Given the description of an element on the screen output the (x, y) to click on. 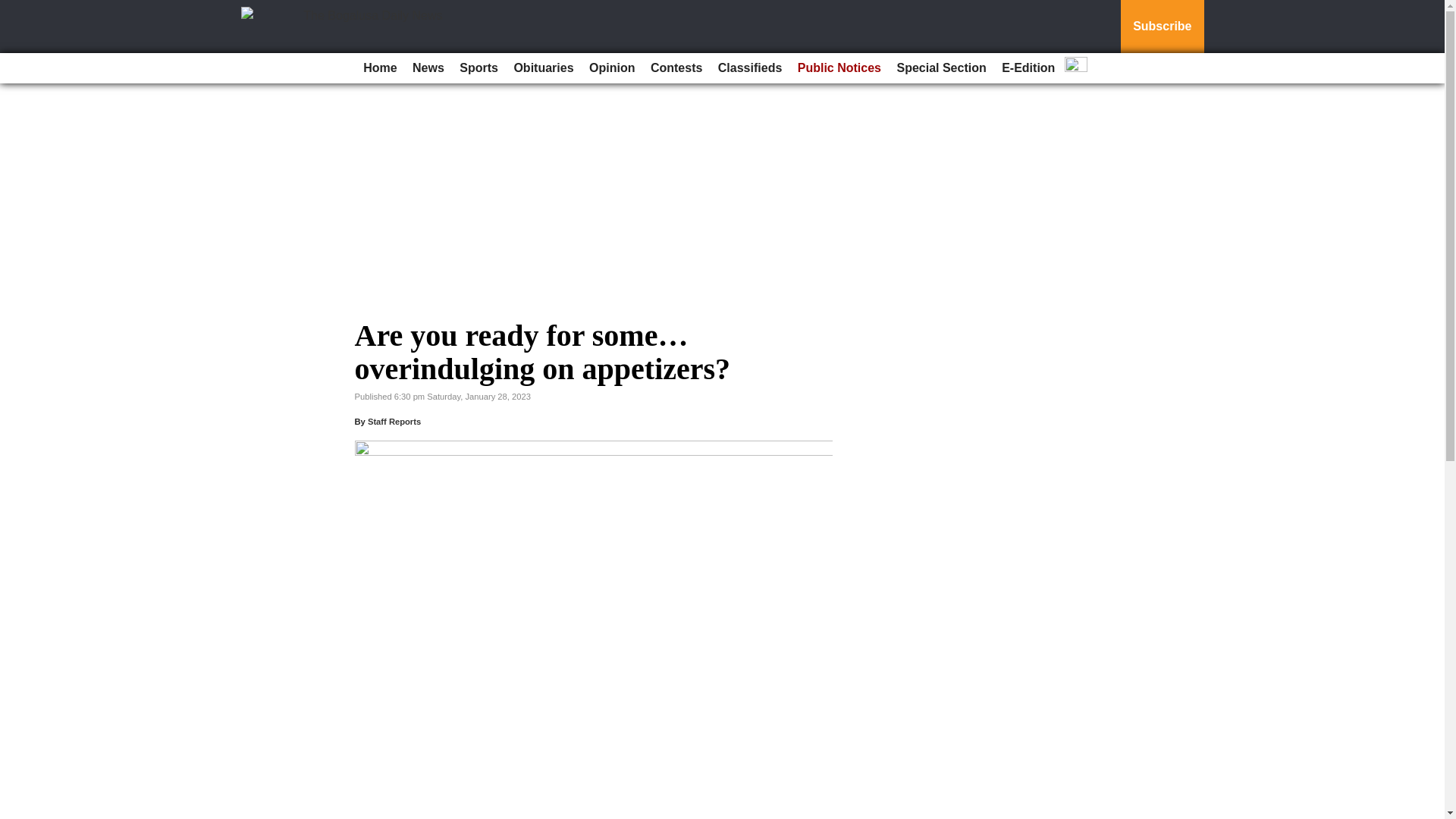
Sports (477, 68)
Go (13, 9)
Special Section (940, 68)
Public Notices (839, 68)
Classifieds (749, 68)
E-Edition (1028, 68)
Home (379, 68)
Staff Reports (394, 420)
Contests (676, 68)
News (427, 68)
Opinion (611, 68)
Subscribe (1162, 26)
Obituaries (542, 68)
